Given the description of an element on the screen output the (x, y) to click on. 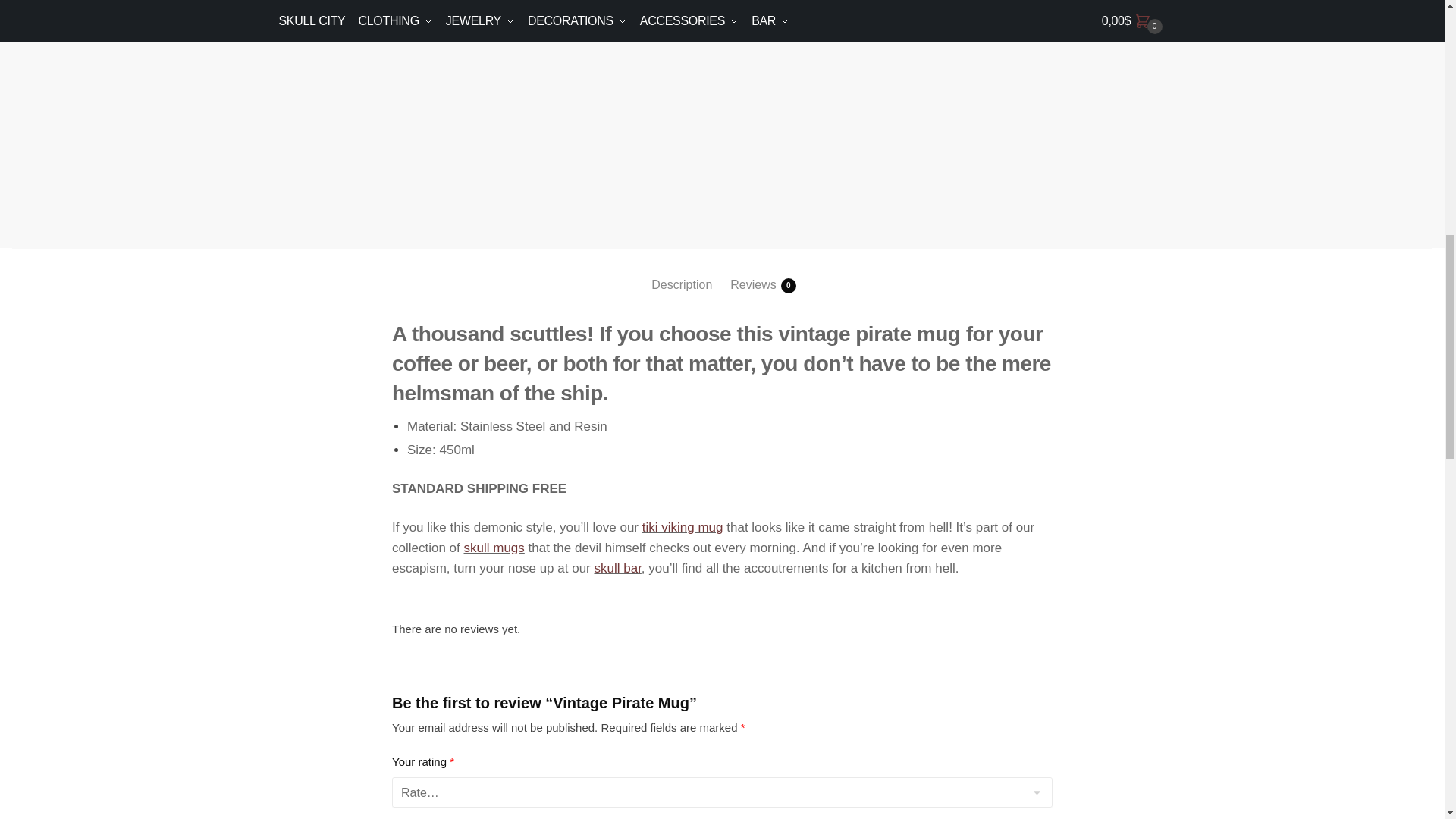
skull bar (617, 568)
tiki viking mug (682, 527)
skull mugs (494, 547)
